Given the description of an element on the screen output the (x, y) to click on. 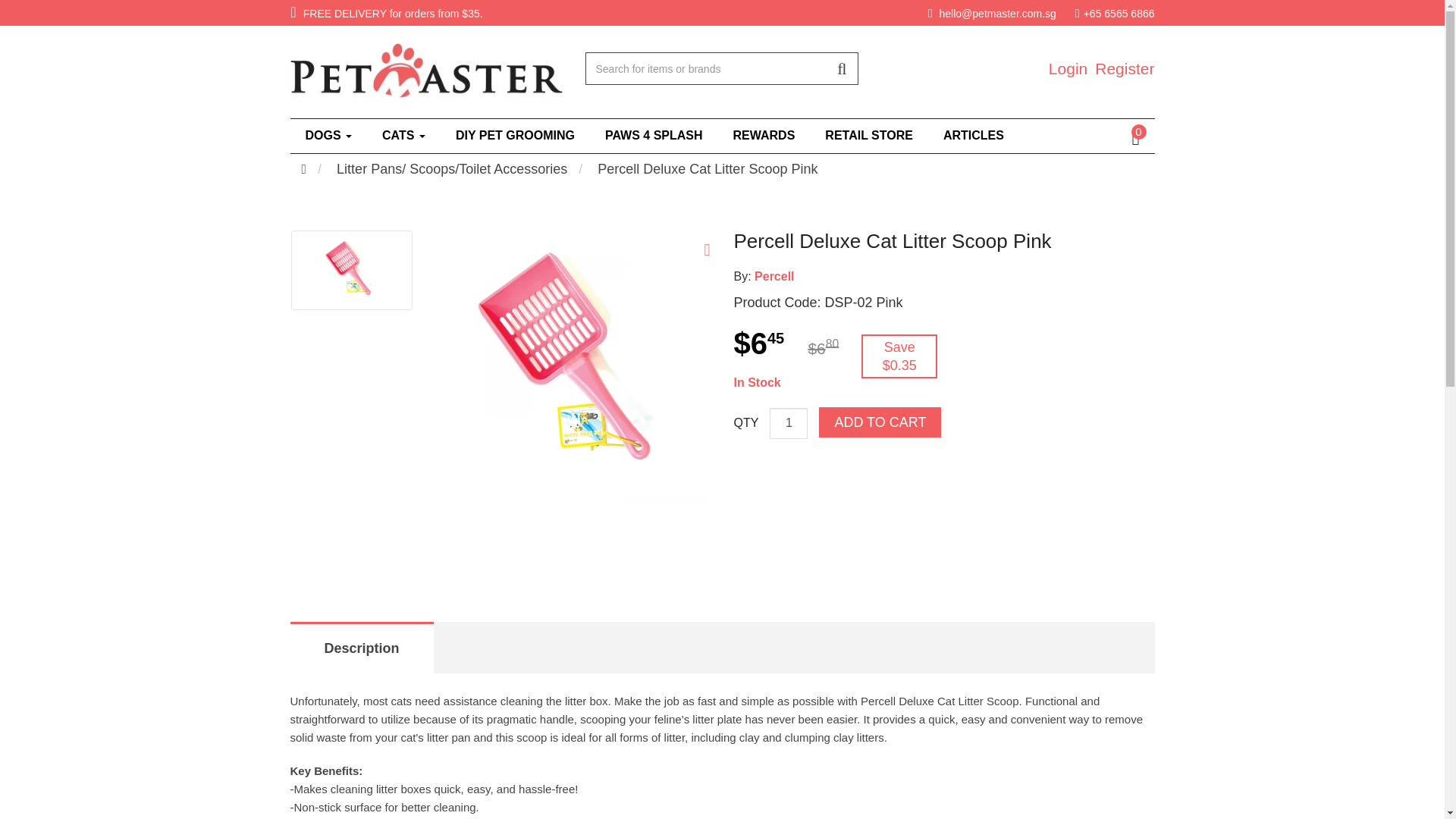
Percell Deluxe Cat Litter Scoop Pink (351, 270)
1 (789, 422)
Login (1067, 67)
DOGS (327, 135)
Register (1124, 67)
Pet Master (425, 70)
Percell Deluxe Cat Litter Scoop Pink (575, 364)
